Given the description of an element on the screen output the (x, y) to click on. 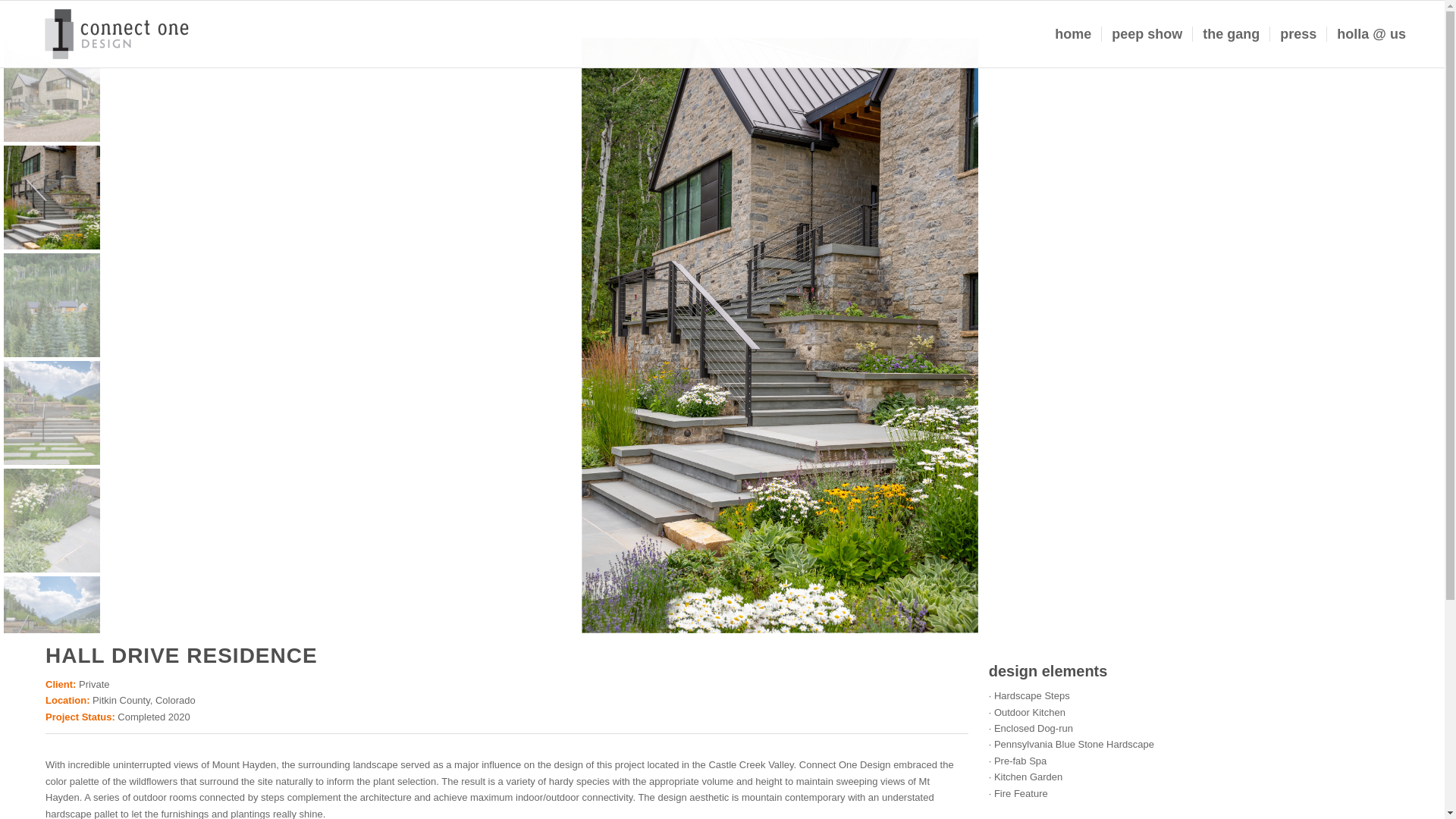
Contact Us (1370, 33)
the gang (1230, 33)
peep show (1146, 33)
